Given the description of an element on the screen output the (x, y) to click on. 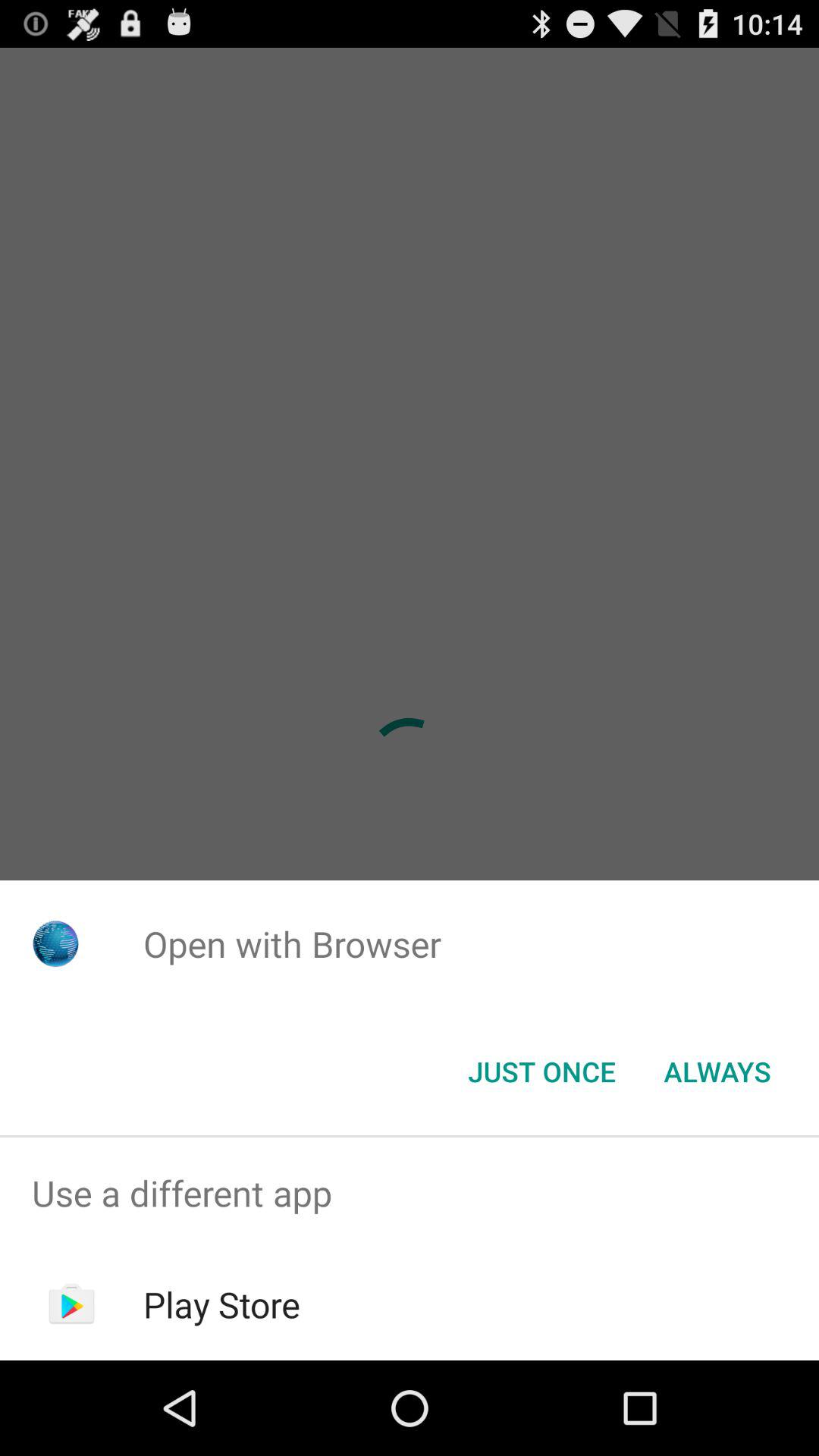
press the button at the bottom right corner (717, 1071)
